Given the description of an element on the screen output the (x, y) to click on. 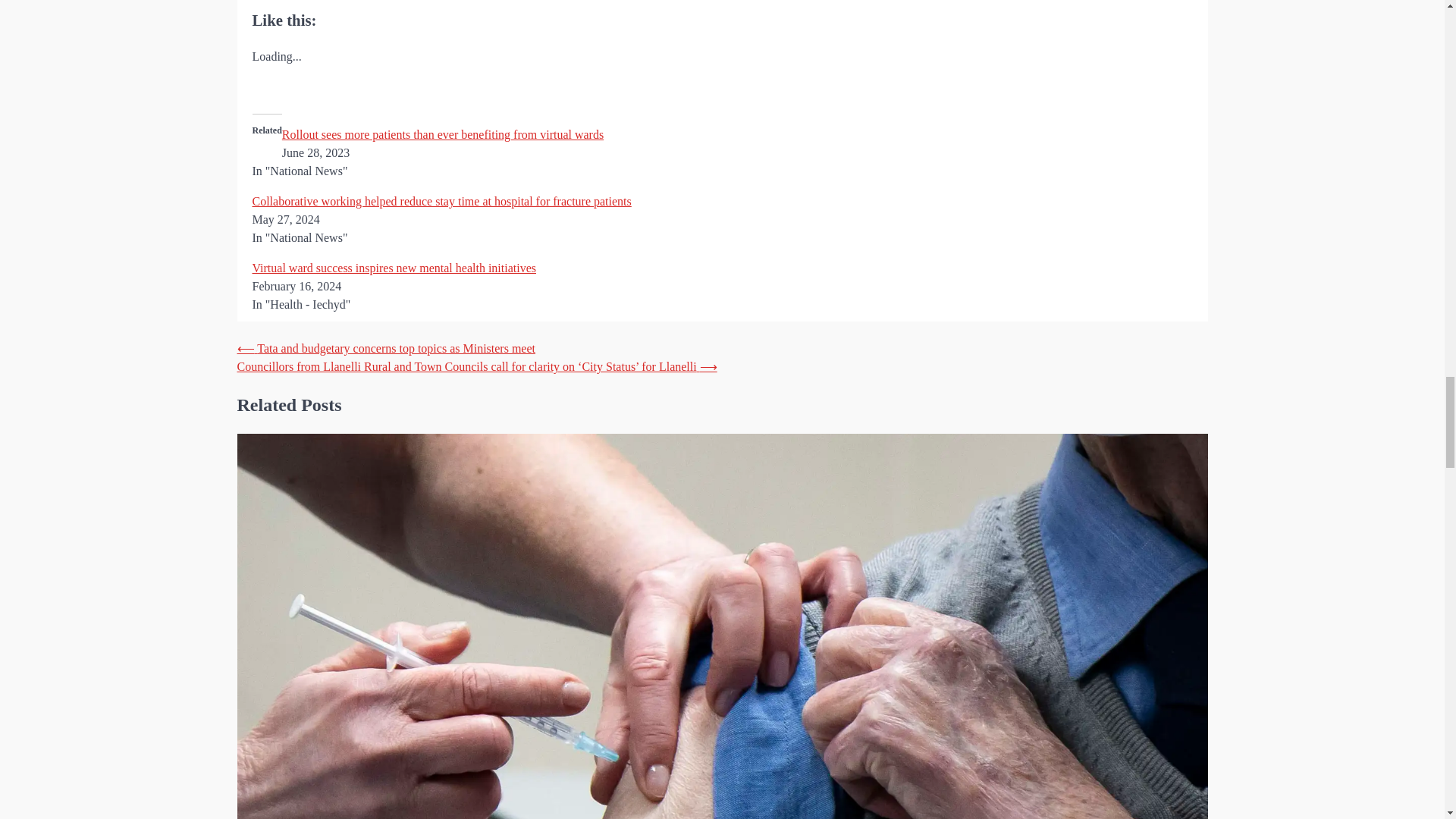
Virtual ward success inspires new mental health initiatives (393, 267)
